Given the description of an element on the screen output the (x, y) to click on. 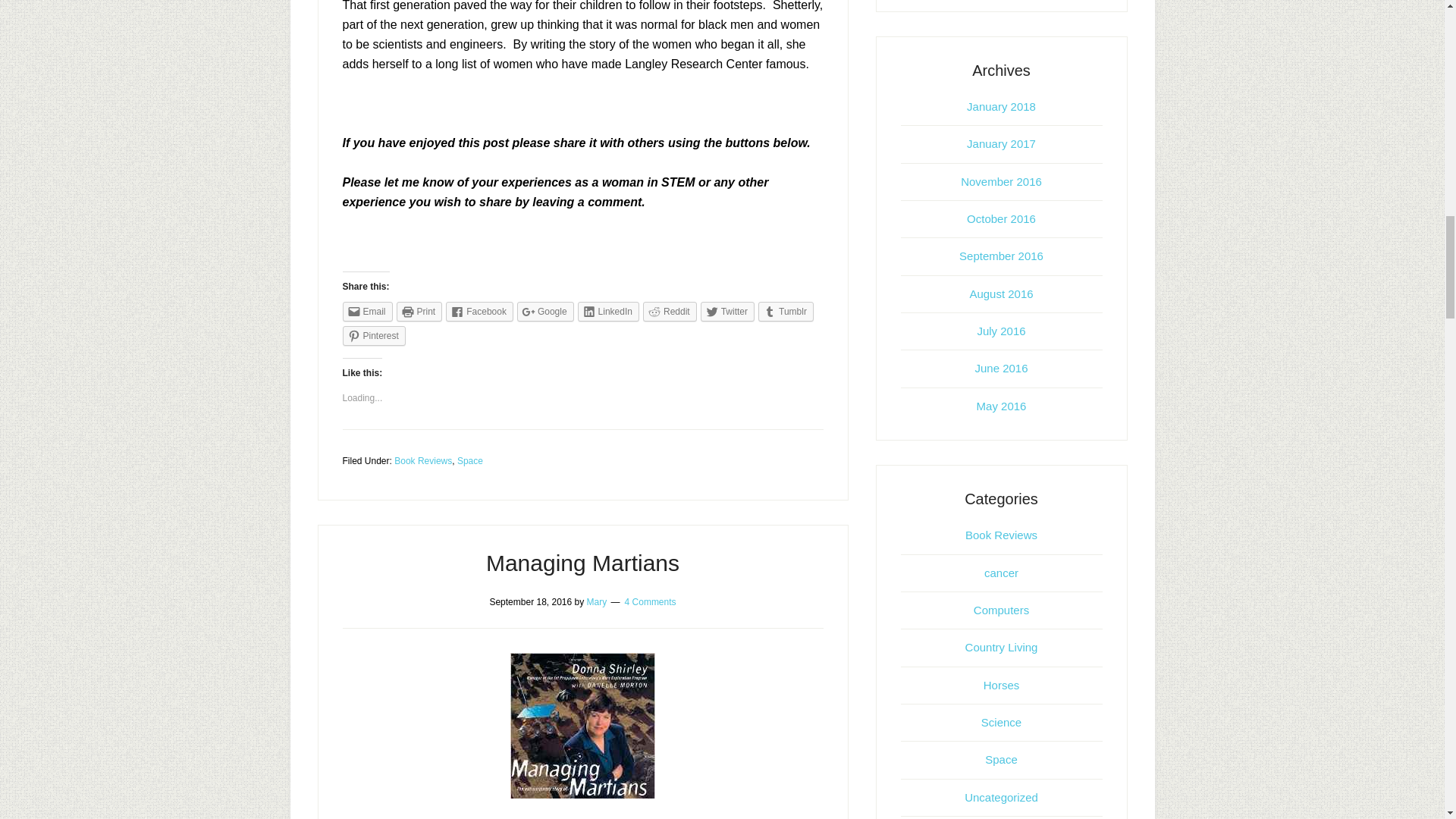
Click to share on Reddit (670, 311)
Print (419, 311)
Managing Martians (582, 562)
Click to email this to a friend (367, 311)
Reddit (670, 311)
Facebook (479, 311)
Pinterest (374, 335)
Mary (596, 602)
Twitter (727, 311)
Tumblr (785, 311)
